Given the description of an element on the screen output the (x, y) to click on. 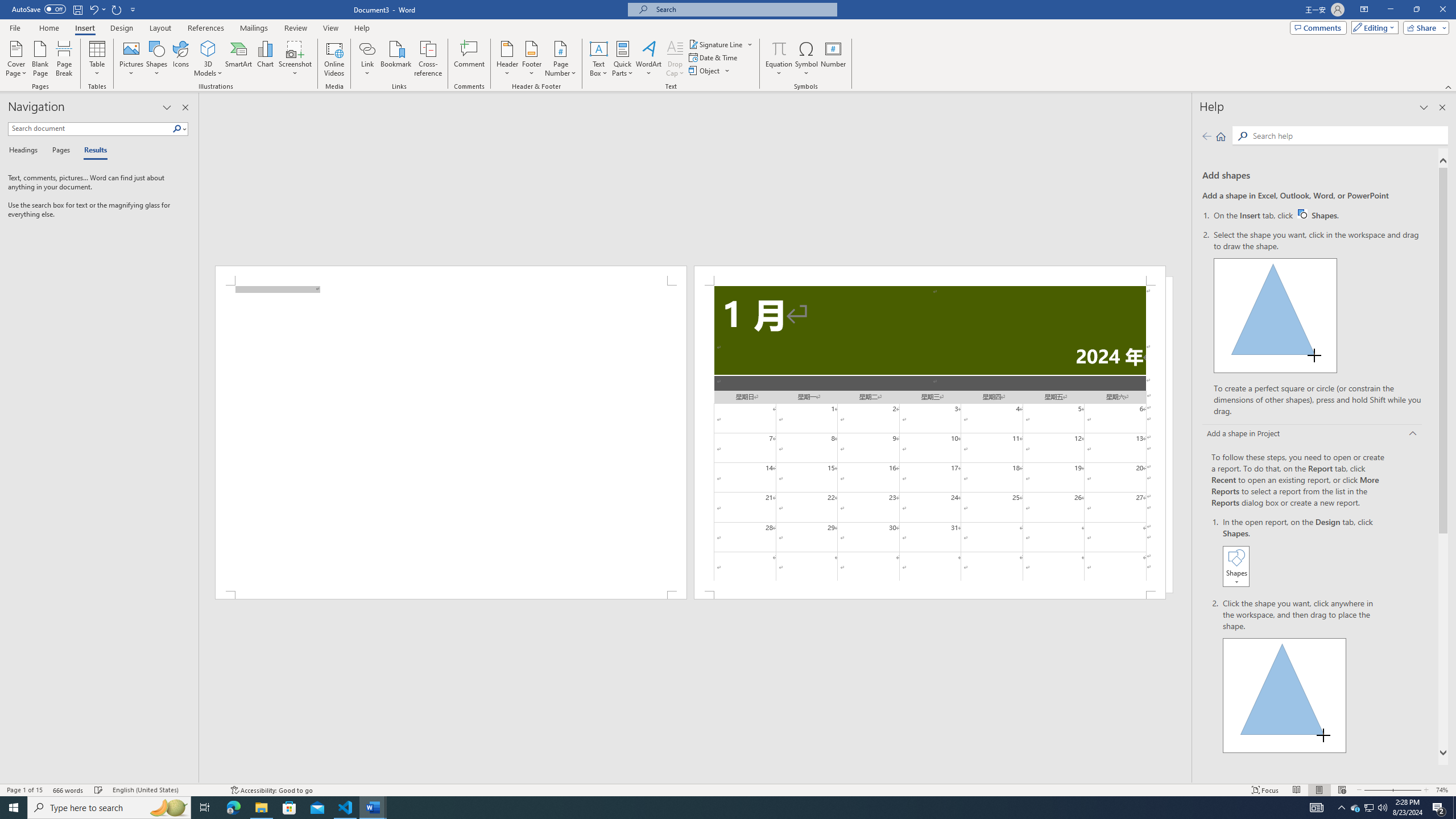
Signature Line (721, 44)
Number... (833, 58)
Page Break (63, 58)
Link (367, 48)
3D Models (208, 48)
Symbol (806, 58)
Screenshot (295, 58)
Blank Page (40, 58)
Quick Parts (622, 58)
